Given the description of an element on the screen output the (x, y) to click on. 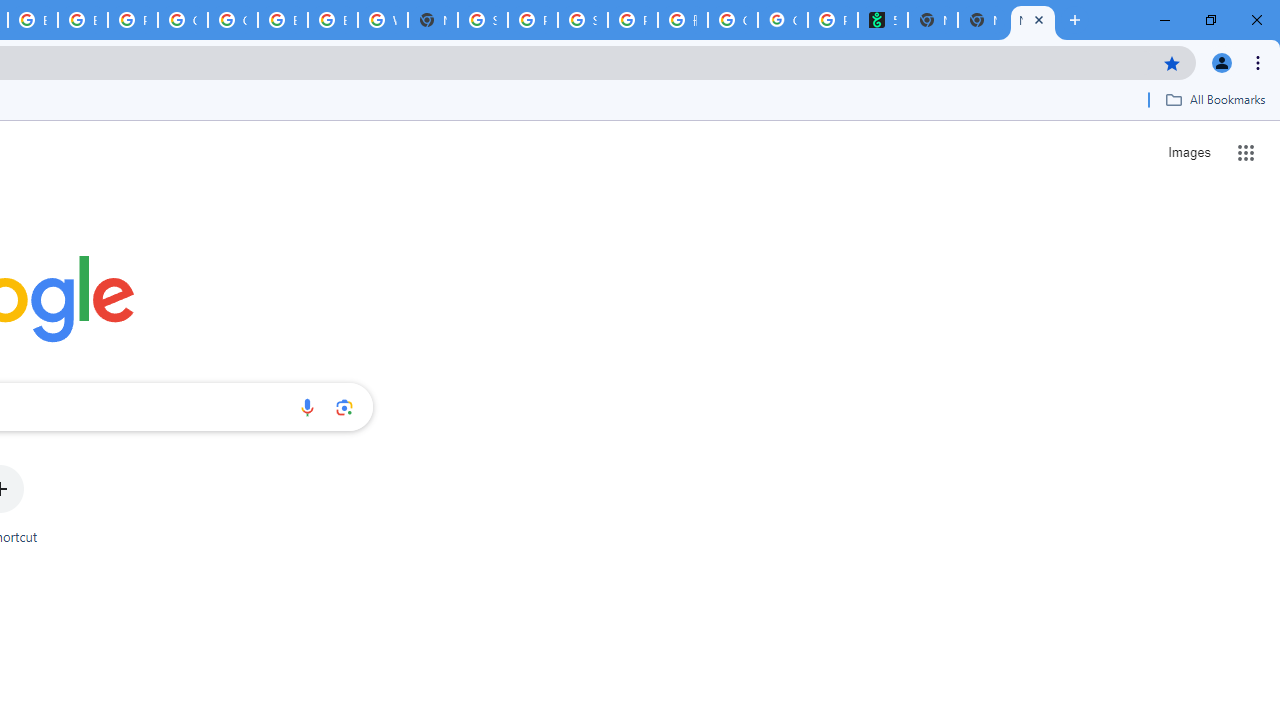
Browse Chrome as a guest - Computer - Google Chrome Help (333, 20)
Search by image (344, 407)
All Bookmarks (1215, 99)
Search for Images  (1188, 152)
Browse Chrome as a guest - Computer - Google Chrome Help (283, 20)
